Given the description of an element on the screen output the (x, y) to click on. 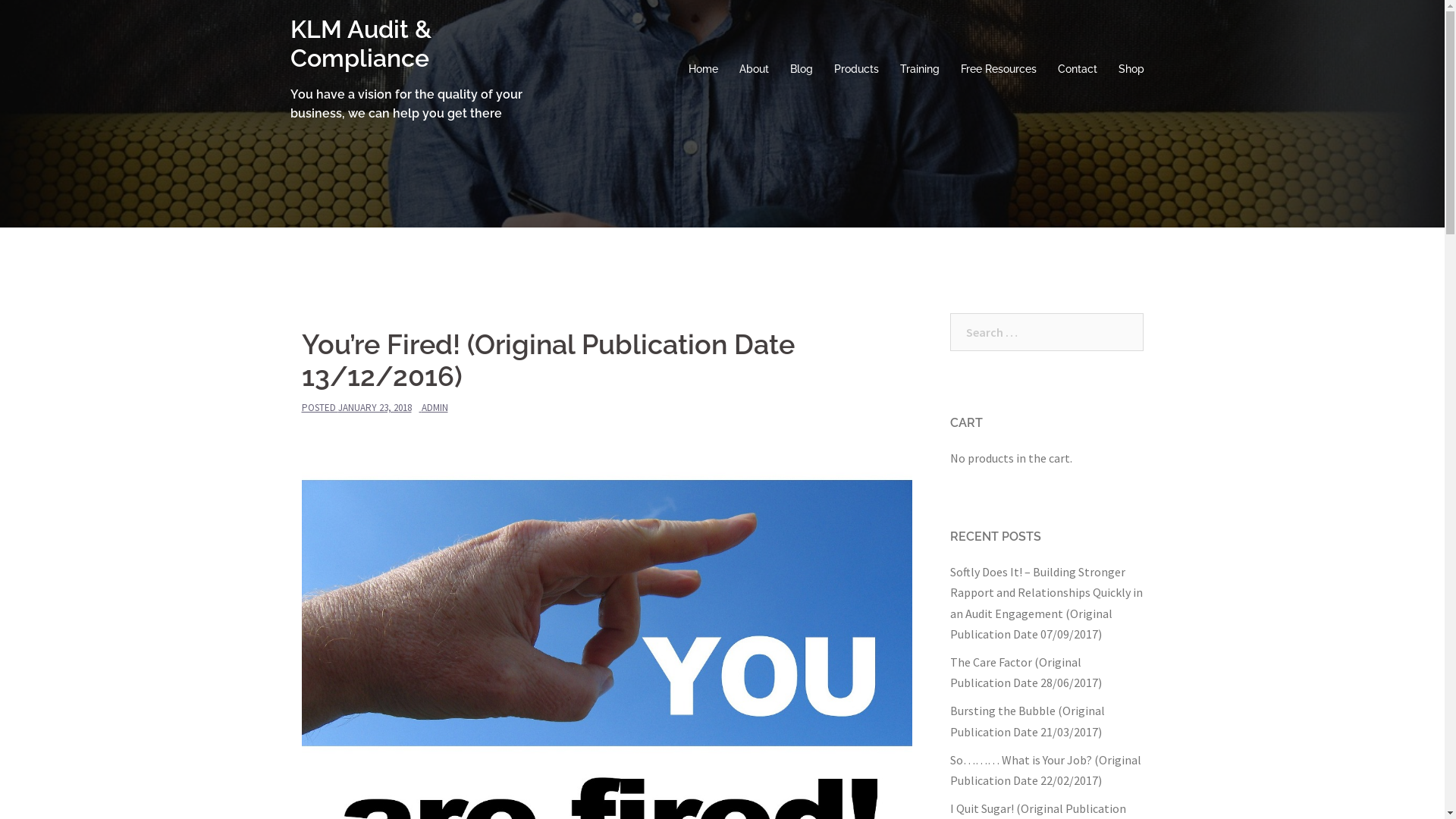
About Element type: text (753, 69)
KLM Audit & Compliance Element type: text (359, 43)
Products Element type: text (856, 69)
Search Element type: text (46, 18)
Contact Element type: text (1076, 69)
JANUARY 23, 2018 Element type: text (374, 407)
The Care Factor (Original Publication Date 28/06/2017) Element type: text (1025, 672)
Home Element type: text (703, 69)
Free Resources Element type: text (997, 69)
Blog Element type: text (801, 69)
Training Element type: text (918, 69)
Shop Element type: text (1130, 69)
ADMIN Element type: text (434, 407)
Bursting the Bubble (Original Publication Date 21/03/2017) Element type: text (1026, 720)
